Given the description of an element on the screen output the (x, y) to click on. 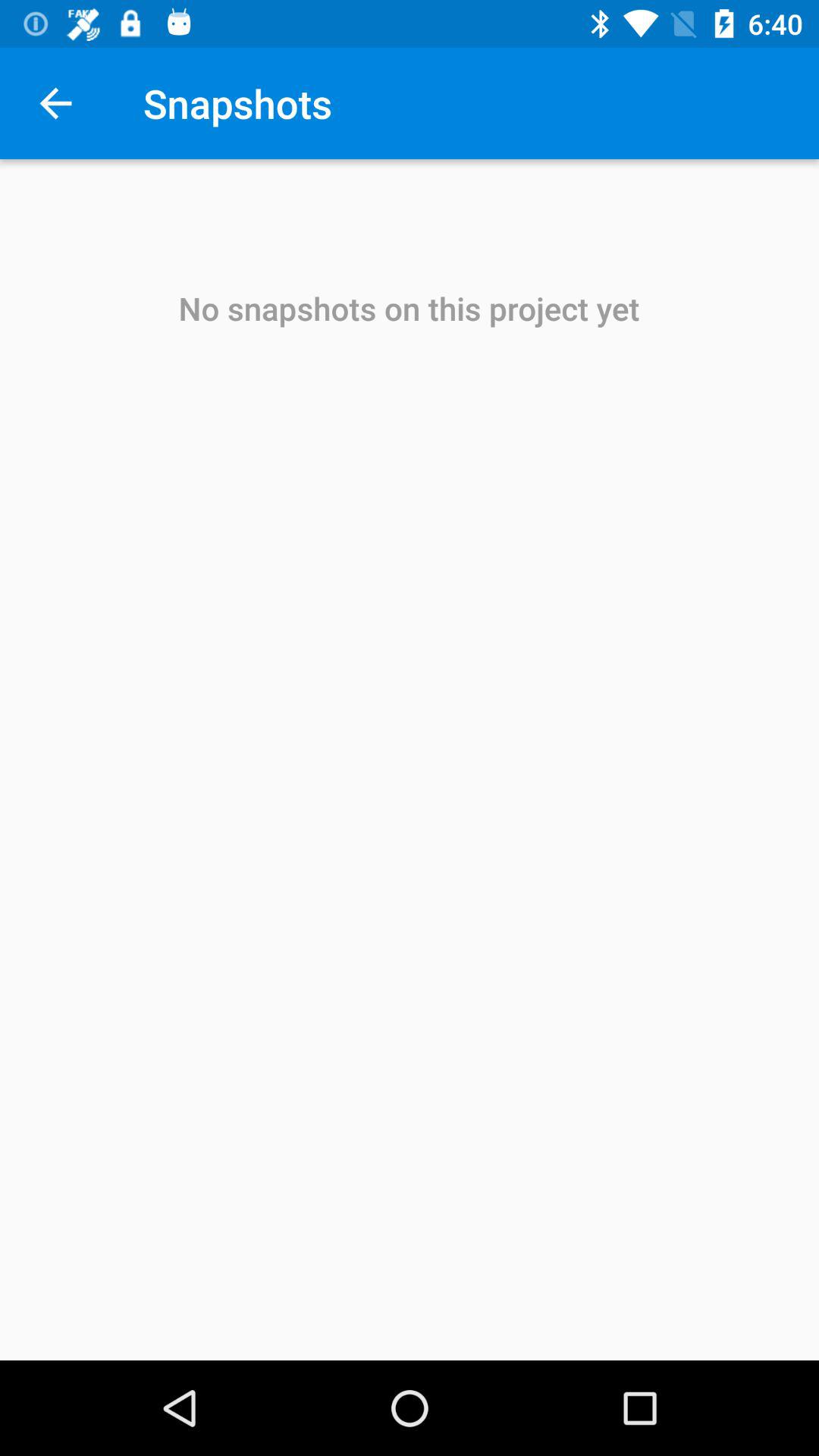
click the item to the left of the snapshots icon (55, 103)
